Given the description of an element on the screen output the (x, y) to click on. 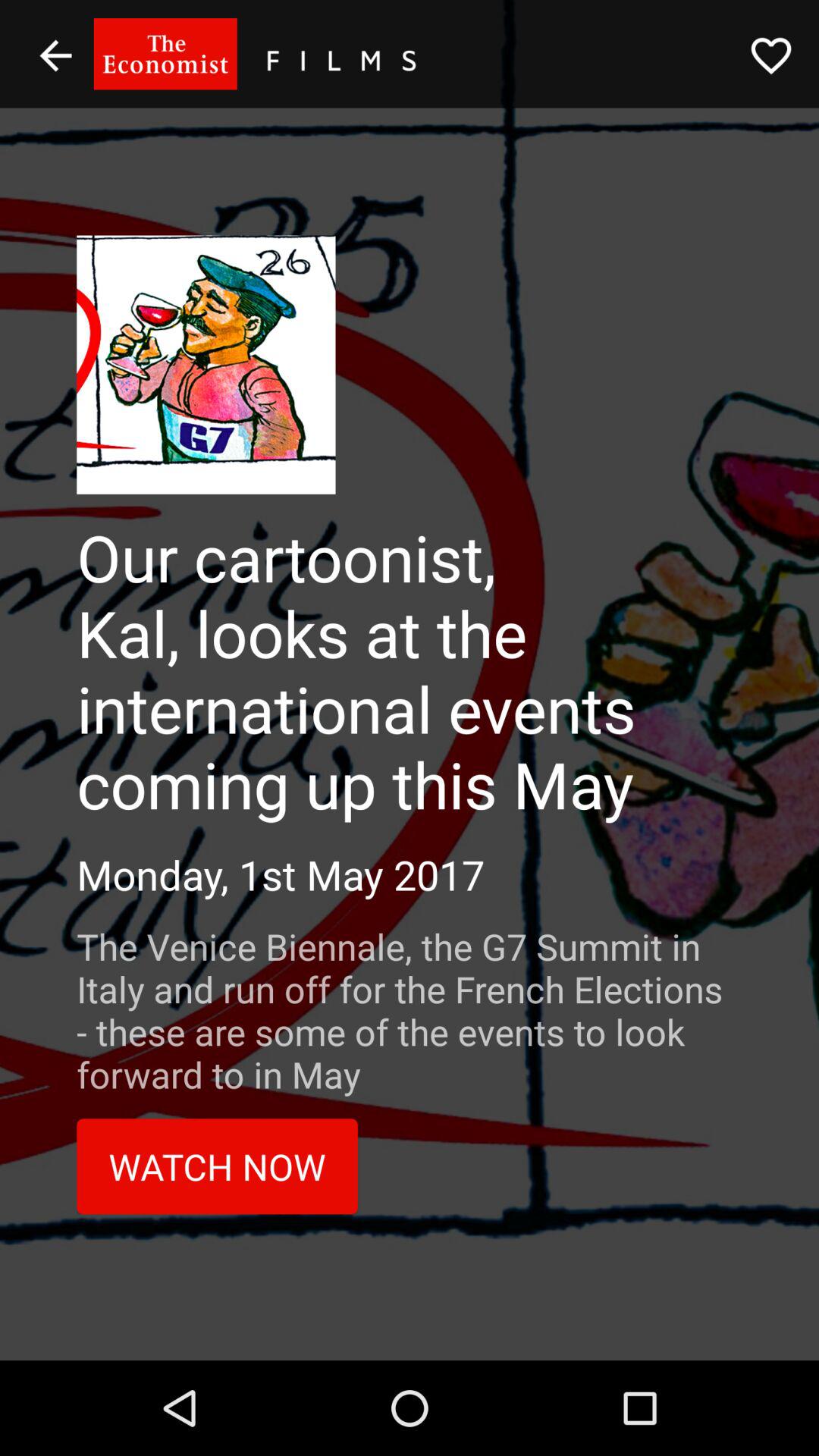
launch the icon below the the venice biennale (216, 1166)
